Given the description of an element on the screen output the (x, y) to click on. 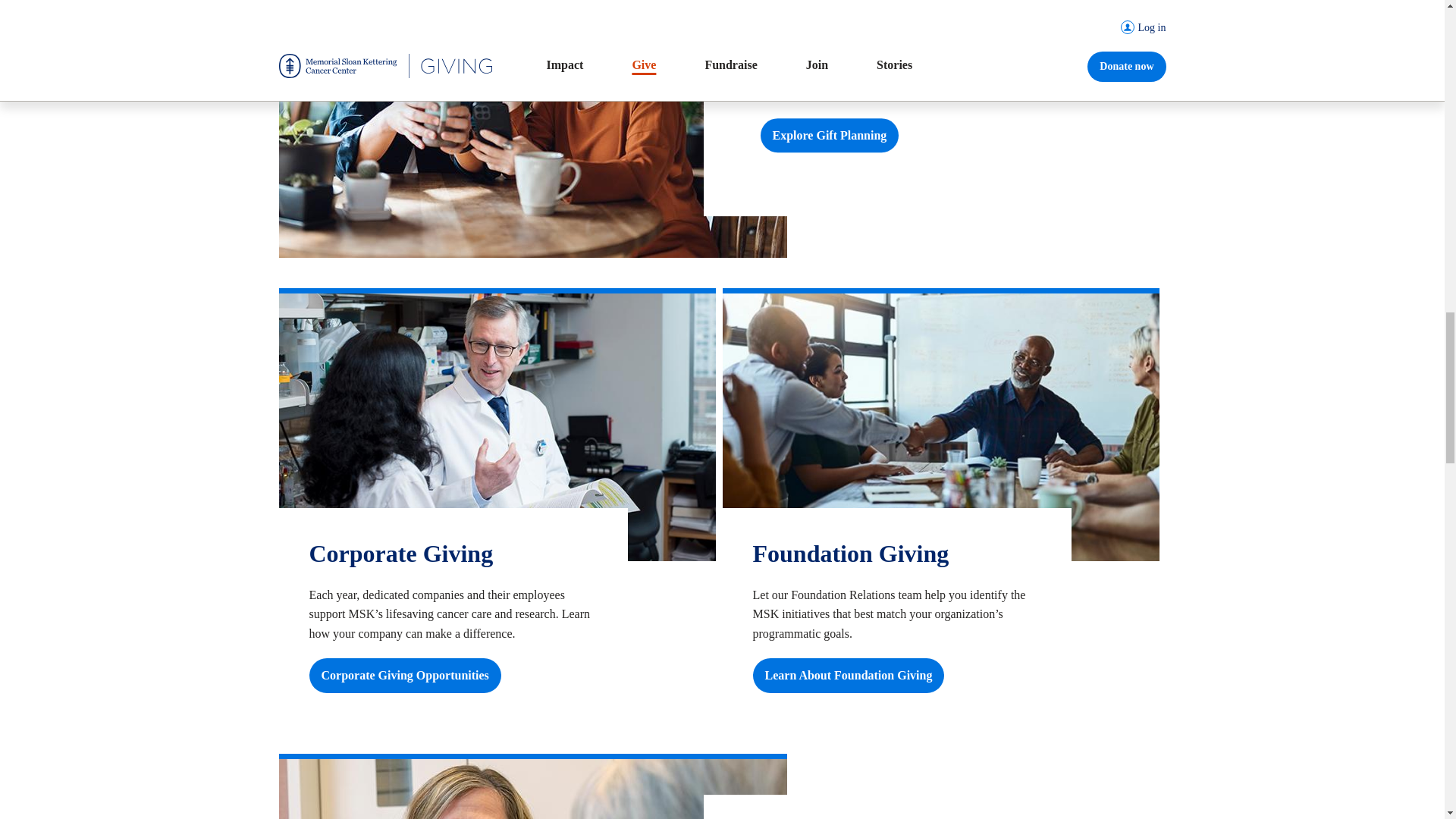
Corporate Giving Opportunities (404, 675)
Learn About Foundation Giving (847, 675)
Explore Gift Planning (829, 135)
